Given the description of an element on the screen output the (x, y) to click on. 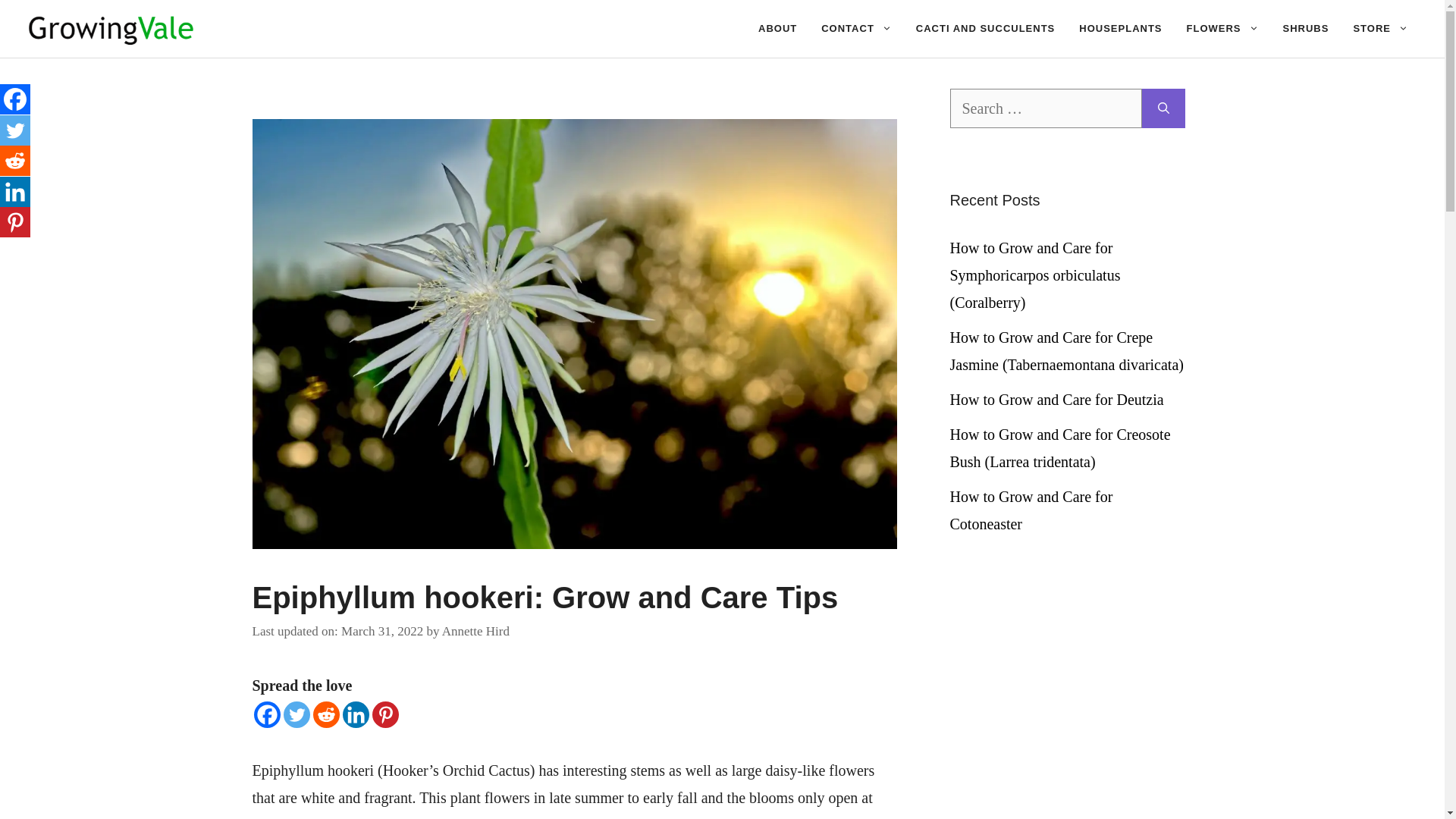
Pinterest (384, 714)
STORE (1380, 28)
Facebook (15, 99)
View all posts by Annette Hird (475, 631)
Linkedin (355, 714)
Annette Hird (475, 631)
Twitter (15, 130)
Facebook (266, 714)
ABOUT (777, 28)
Reddit (326, 714)
